Given the description of an element on the screen output the (x, y) to click on. 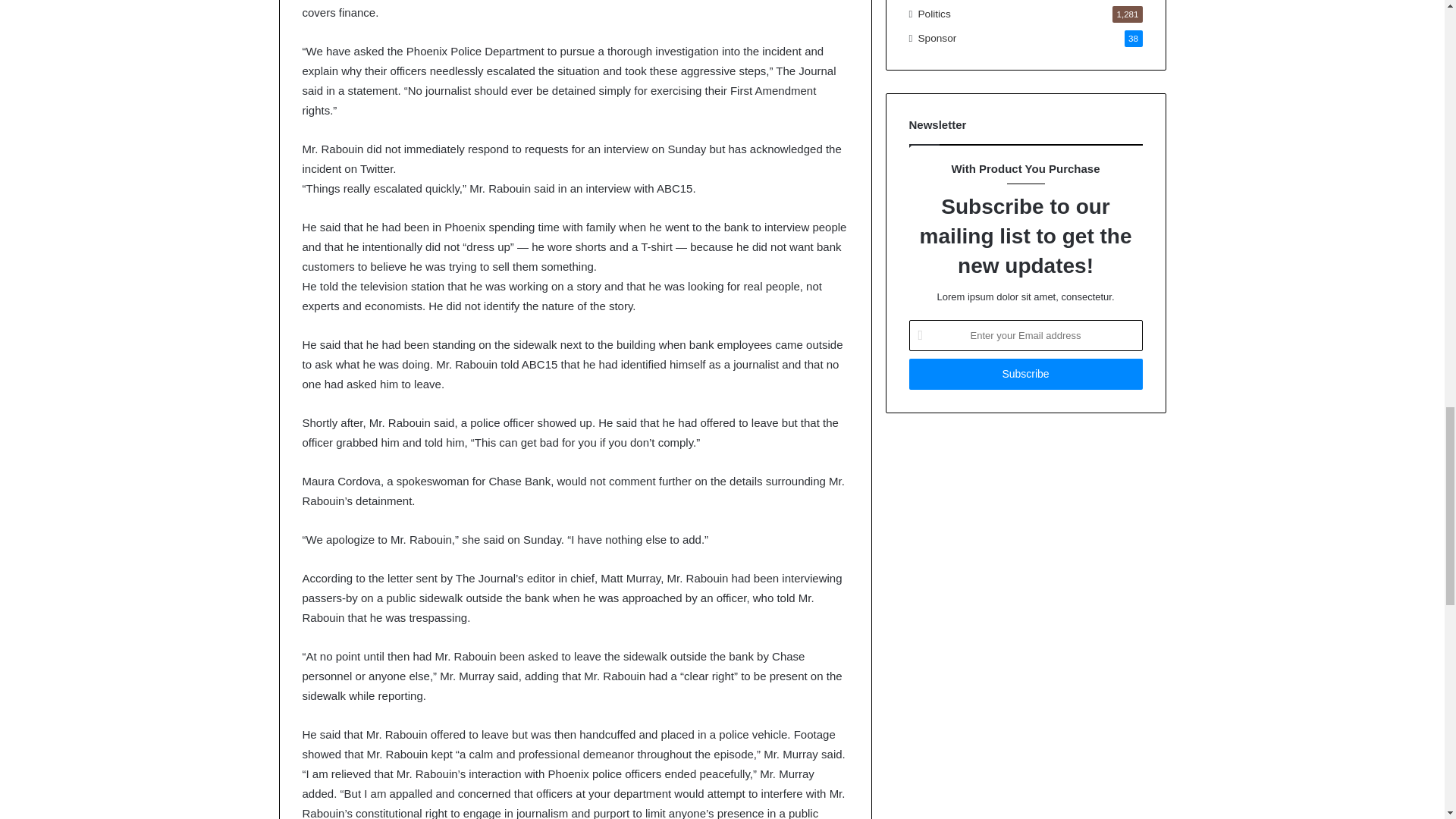
Subscribe (1025, 373)
